Given the description of an element on the screen output the (x, y) to click on. 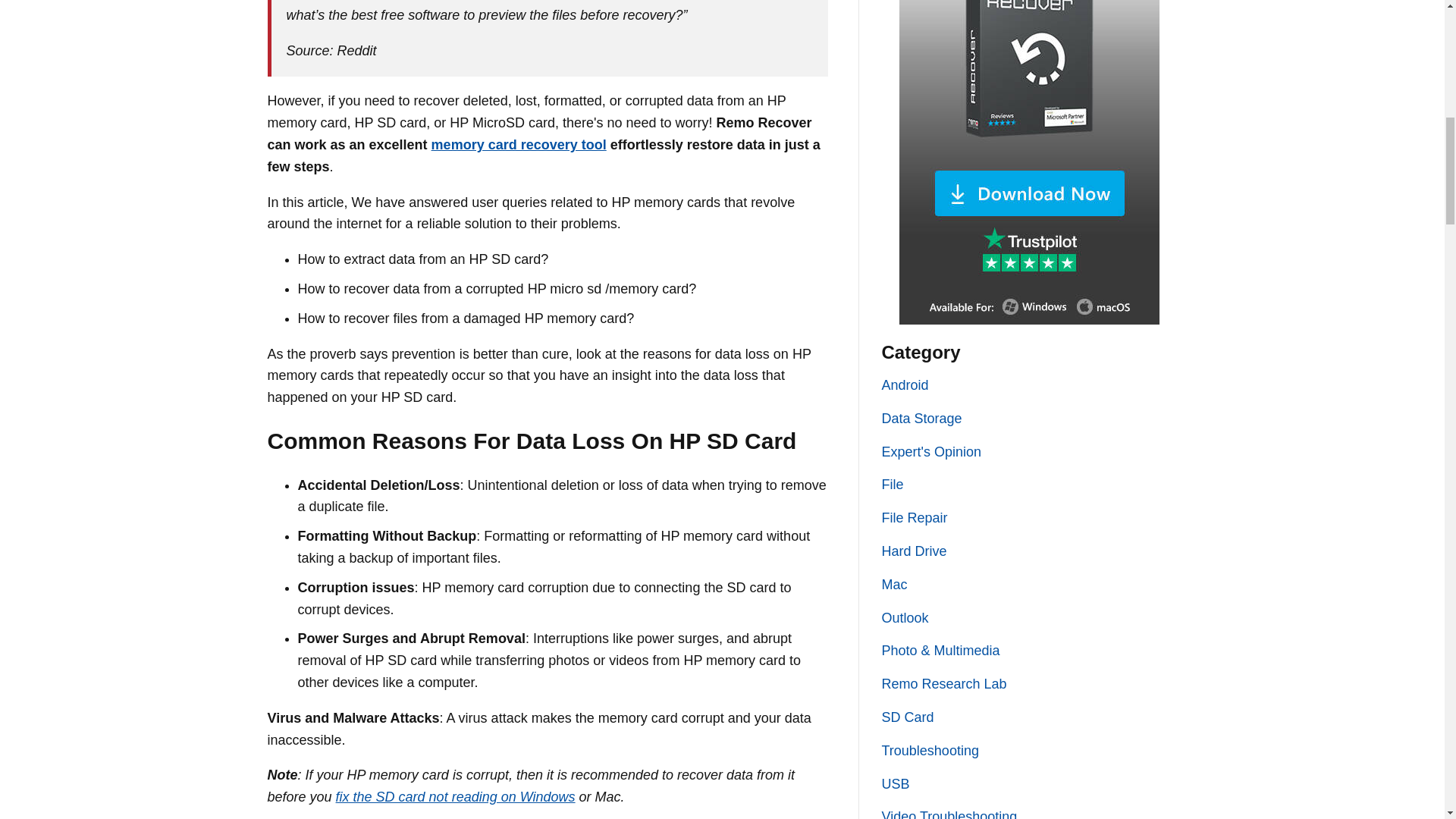
SD Card (906, 717)
Troubleshooting (929, 750)
Outlook (904, 617)
Android (904, 385)
Hard Drive (913, 550)
Remo Research Lab (943, 683)
Data Storage (920, 418)
USB (894, 783)
File (891, 484)
Video Troubleshooting (948, 814)
File Repair (913, 517)
fix the SD card not reading on Windows (455, 796)
memory card recovery tool (518, 144)
Expert's Opinion (930, 451)
Mac (893, 584)
